Given the description of an element on the screen output the (x, y) to click on. 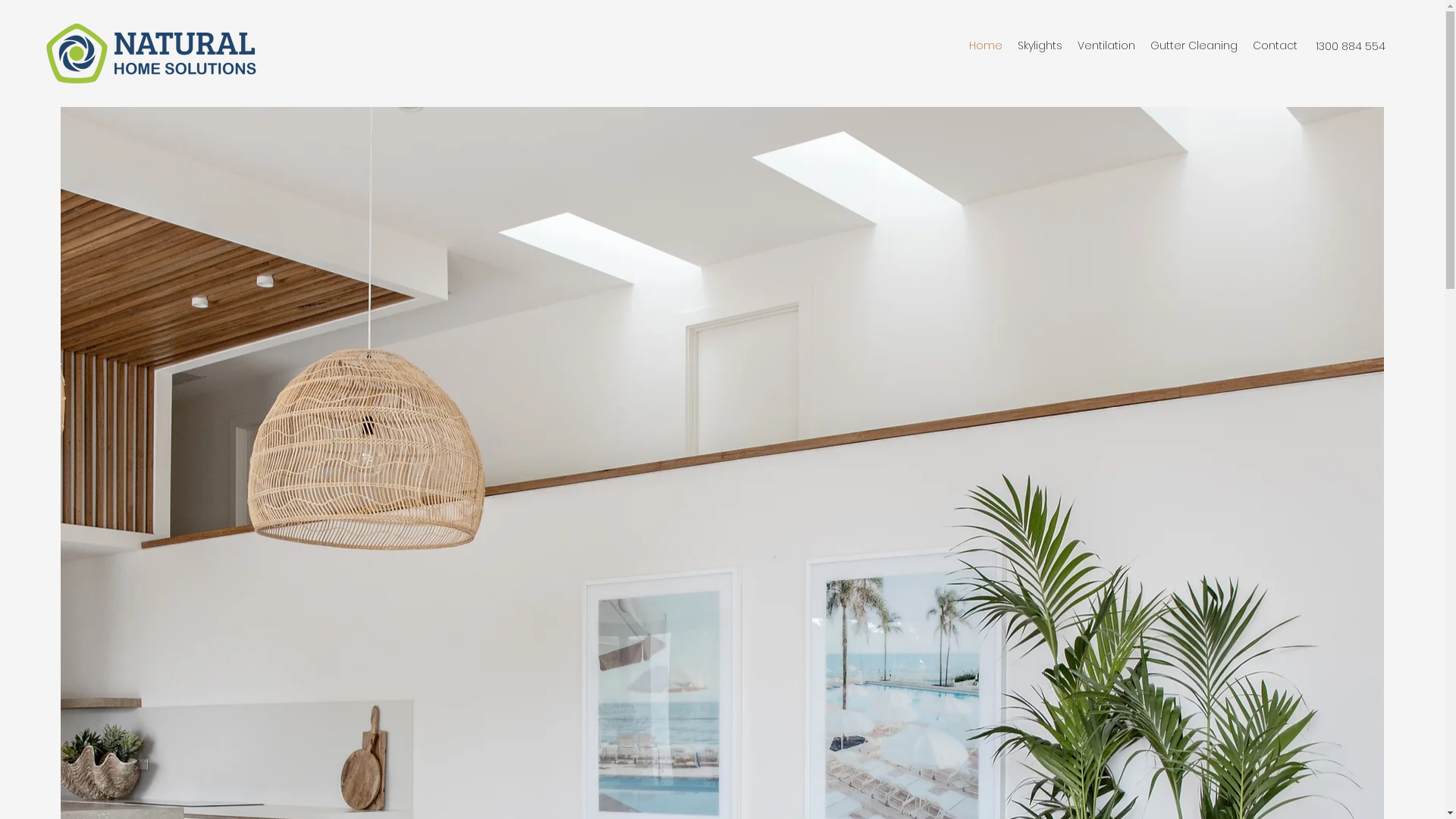
Contact Element type: text (1275, 45)
Gutter Cleaning Element type: text (1193, 45)
Ventilation Element type: text (1106, 45)
Home Element type: text (985, 45)
Skylights Element type: text (1040, 45)
